Given the description of an element on the screen output the (x, y) to click on. 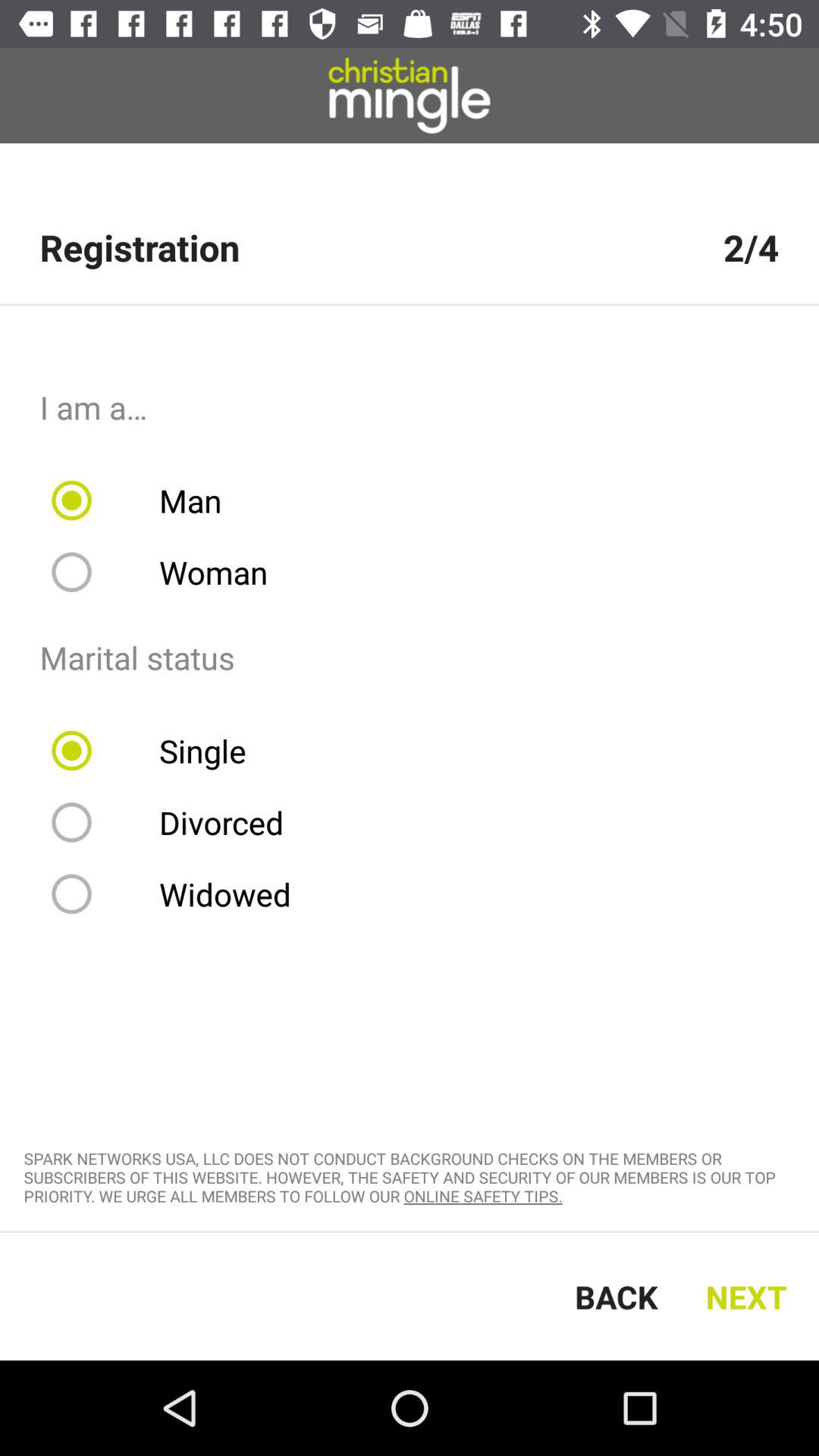
turn off item above the marital status item (169, 572)
